Given the description of an element on the screen output the (x, y) to click on. 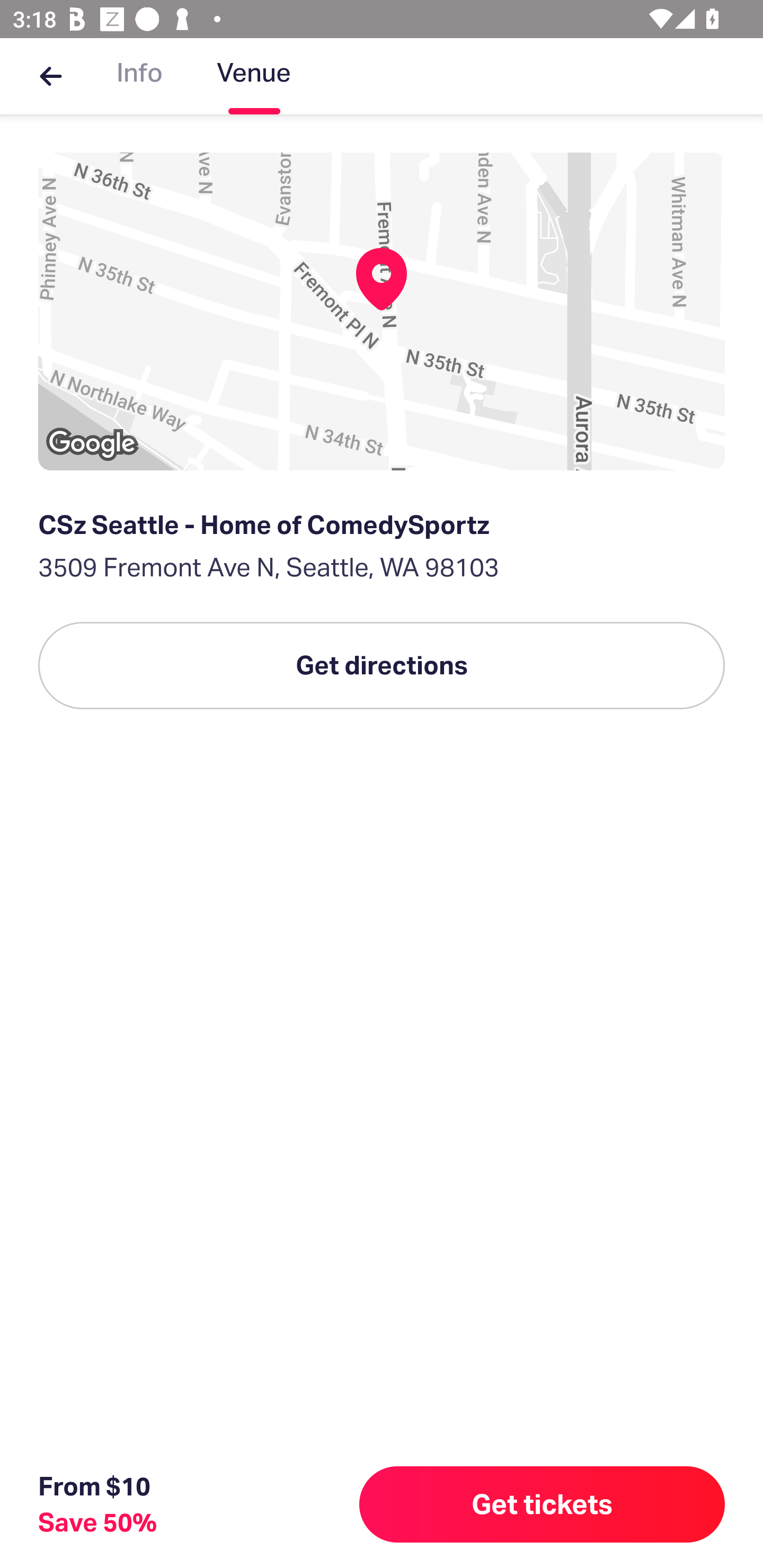
Info (139, 75)
Google Map CSz Seattle - Home of ComedySportz.  (381, 311)
Get directions (381, 665)
Get tickets (541, 1504)
